Given the description of an element on the screen output the (x, y) to click on. 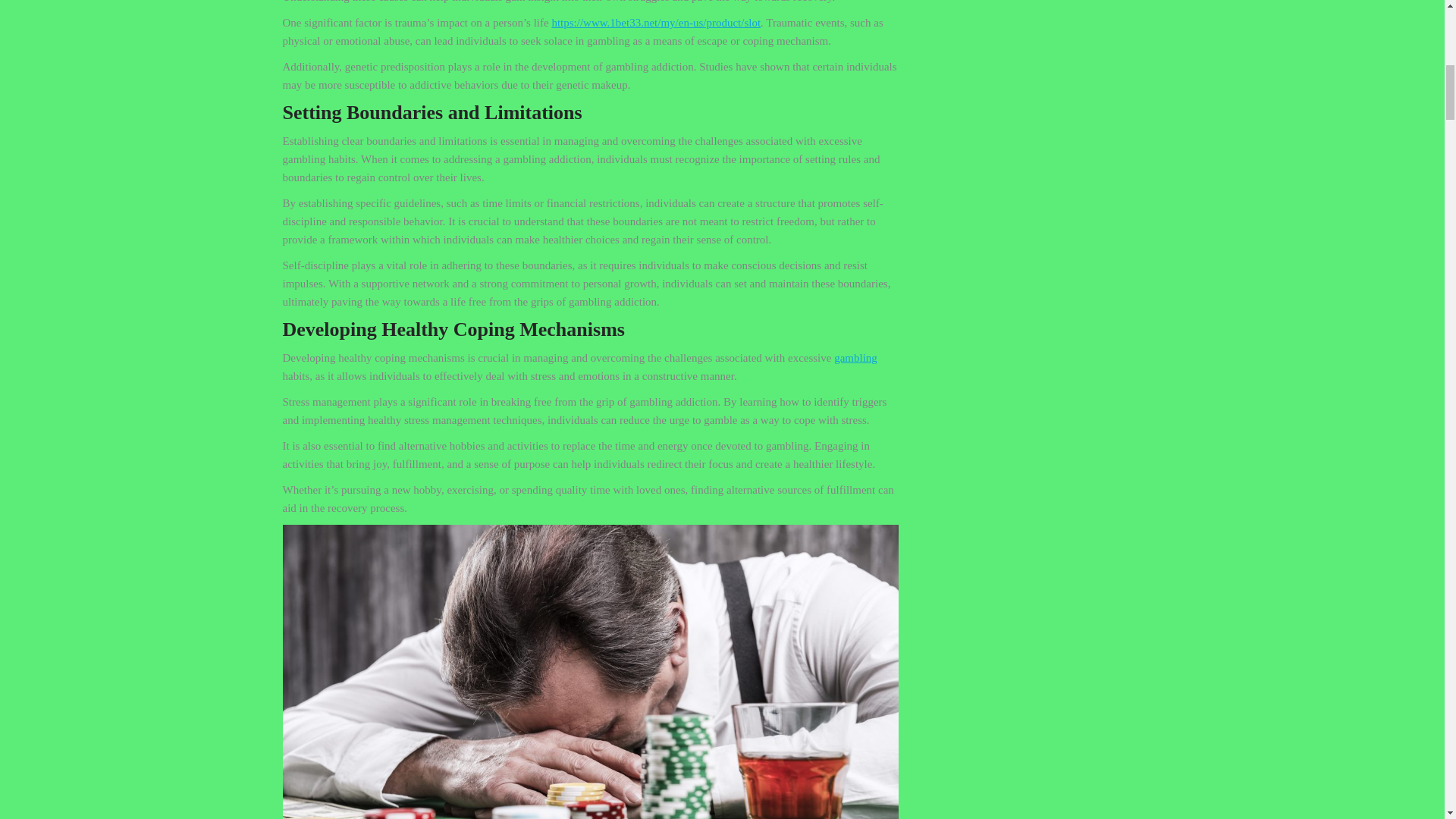
gambling (855, 357)
